Given the description of an element on the screen output the (x, y) to click on. 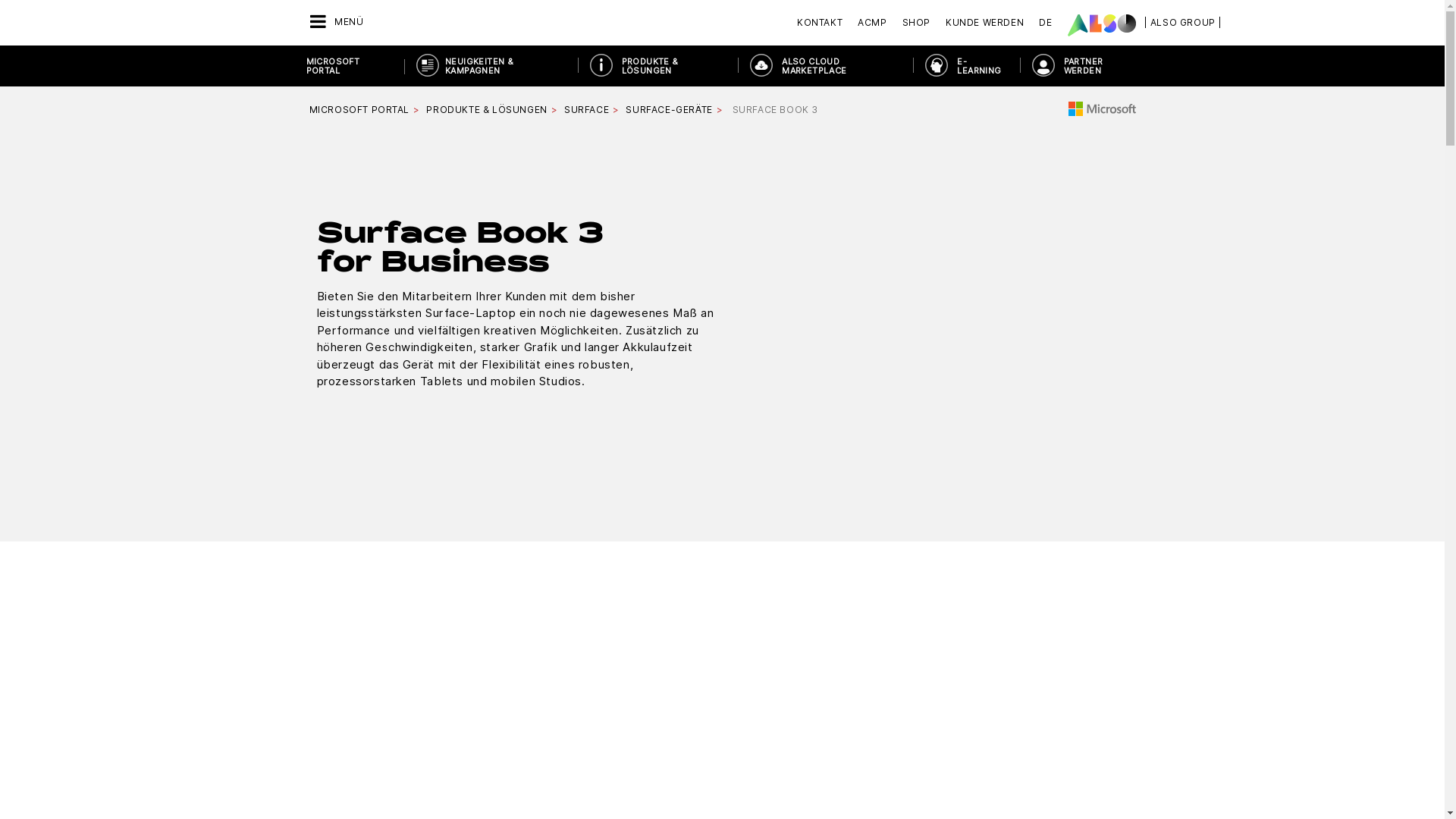
E-LEARNING Element type: text (966, 65)
SHOP Element type: text (916, 22)
NEUIGKEITEN & KAMPAGNEN Element type: text (490, 65)
KONTAKT Element type: text (823, 22)
DE Element type: text (1045, 22)
| ALSO GROUP | Element type: text (1182, 22)
MICROSOFT PORTAL Element type: text (349, 65)
SURFACE Element type: text (586, 109)
ALSO CLOUD MARKETPLACE Element type: text (825, 65)
ACMP Element type: text (872, 22)
PARTNER WERDEN Element type: text (1085, 65)
MICROSOFT PORTAL Element type: text (359, 109)
ALSO Schweiz AG Element type: hover (1101, 24)
KUNDE WERDEN Element type: text (984, 22)
